Given the description of an element on the screen output the (x, y) to click on. 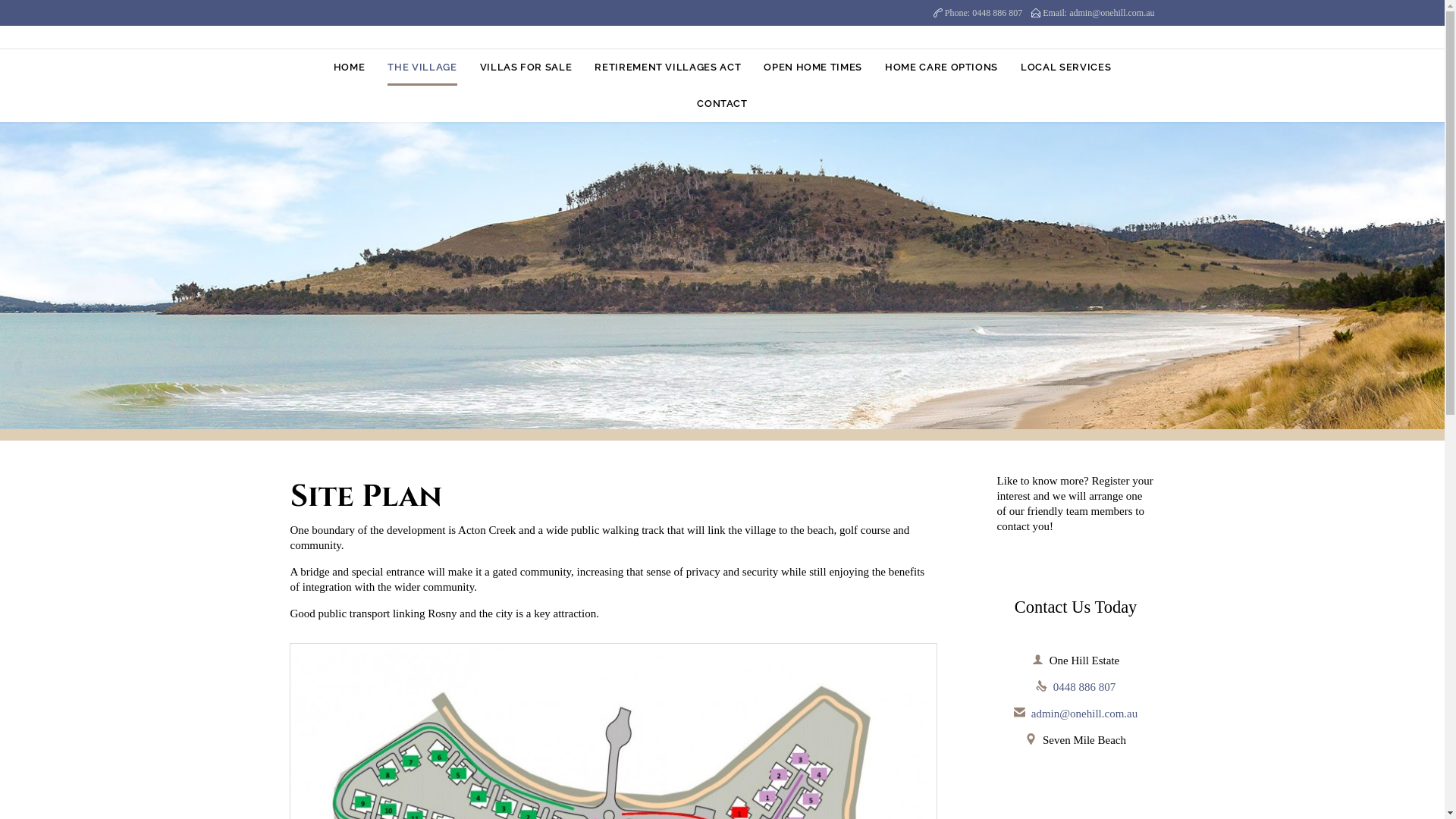
HOME Element type: text (349, 68)
RETIREMENT VILLAGES ACT Element type: text (667, 68)
HOME CARE OPTIONS Element type: text (940, 68)
THE VILLAGE Element type: text (421, 68)
OPEN HOME TIMES Element type: text (812, 68)
Skip to content Element type: text (721, 48)
CONTACT Element type: text (721, 104)
VILLAS FOR SALE Element type: text (526, 68)
LOCAL SERVICES Element type: text (1065, 68)
